Given the description of an element on the screen output the (x, y) to click on. 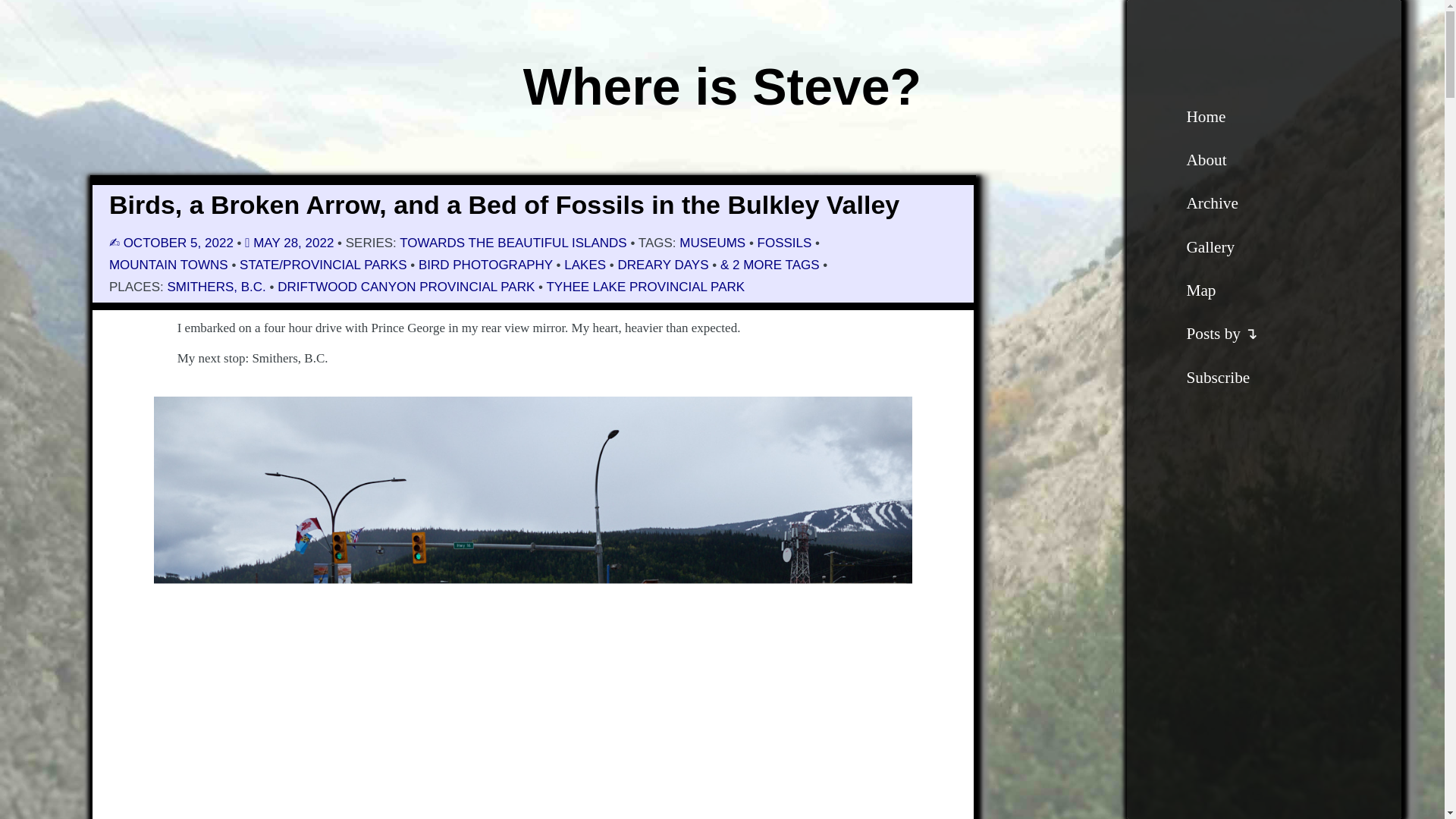
All posts tagged 'dreary days' (663, 264)
All posts in the Series 'Towards the Beautiful Islands' (512, 242)
All posts tagged 'bird photography' (486, 264)
Date post was published (173, 242)
All posts tagged 'museums' (712, 242)
Archive (1211, 203)
About (1205, 159)
LAKES (584, 264)
MOUNTAIN TOWNS (168, 264)
TOWARDS THE BEAUTIFUL ISLANDS (512, 242)
